Given the description of an element on the screen output the (x, y) to click on. 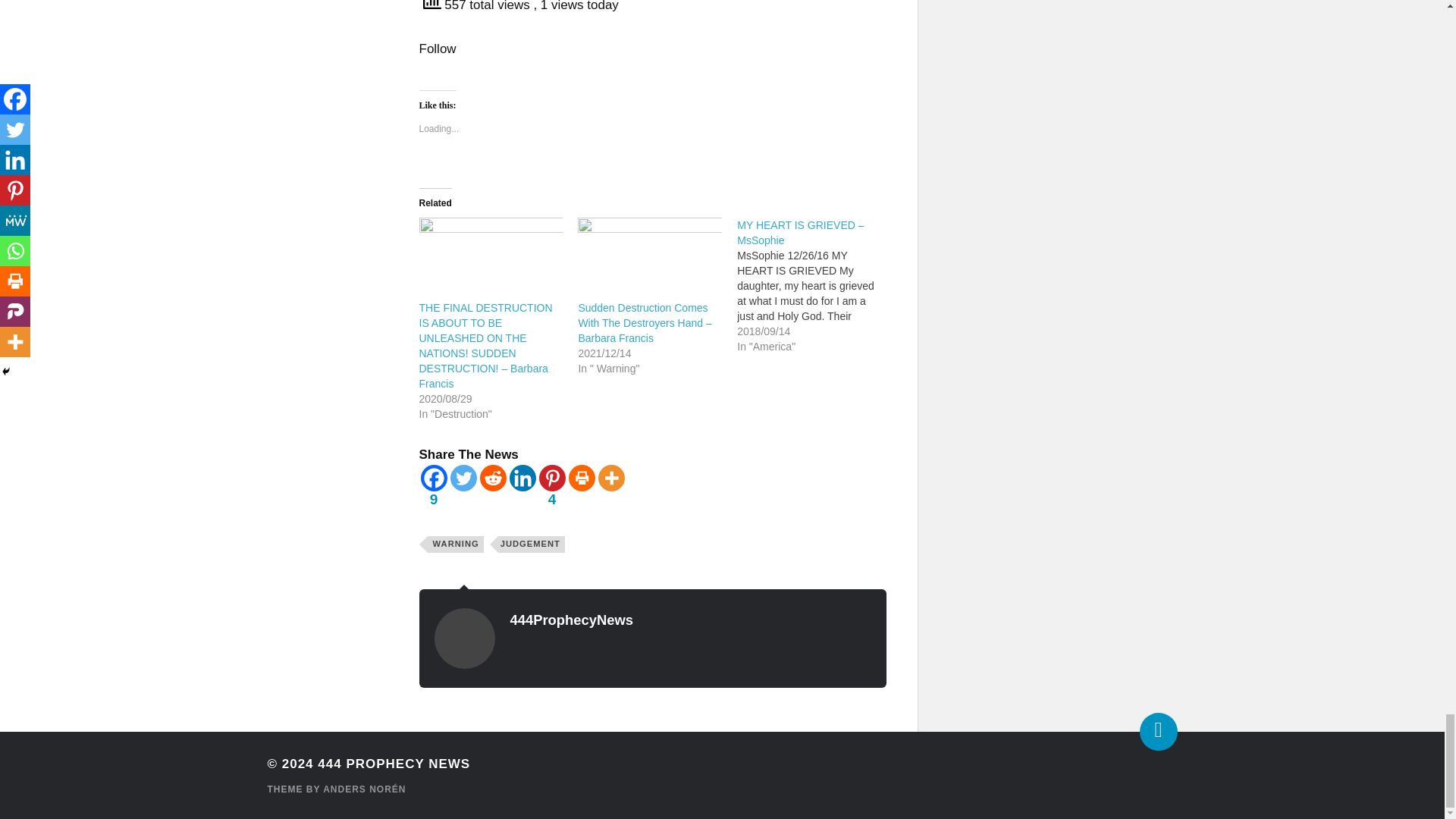
Print (582, 478)
Linkedin (522, 478)
Twitter (463, 478)
Reddit (492, 478)
